Given the description of an element on the screen output the (x, y) to click on. 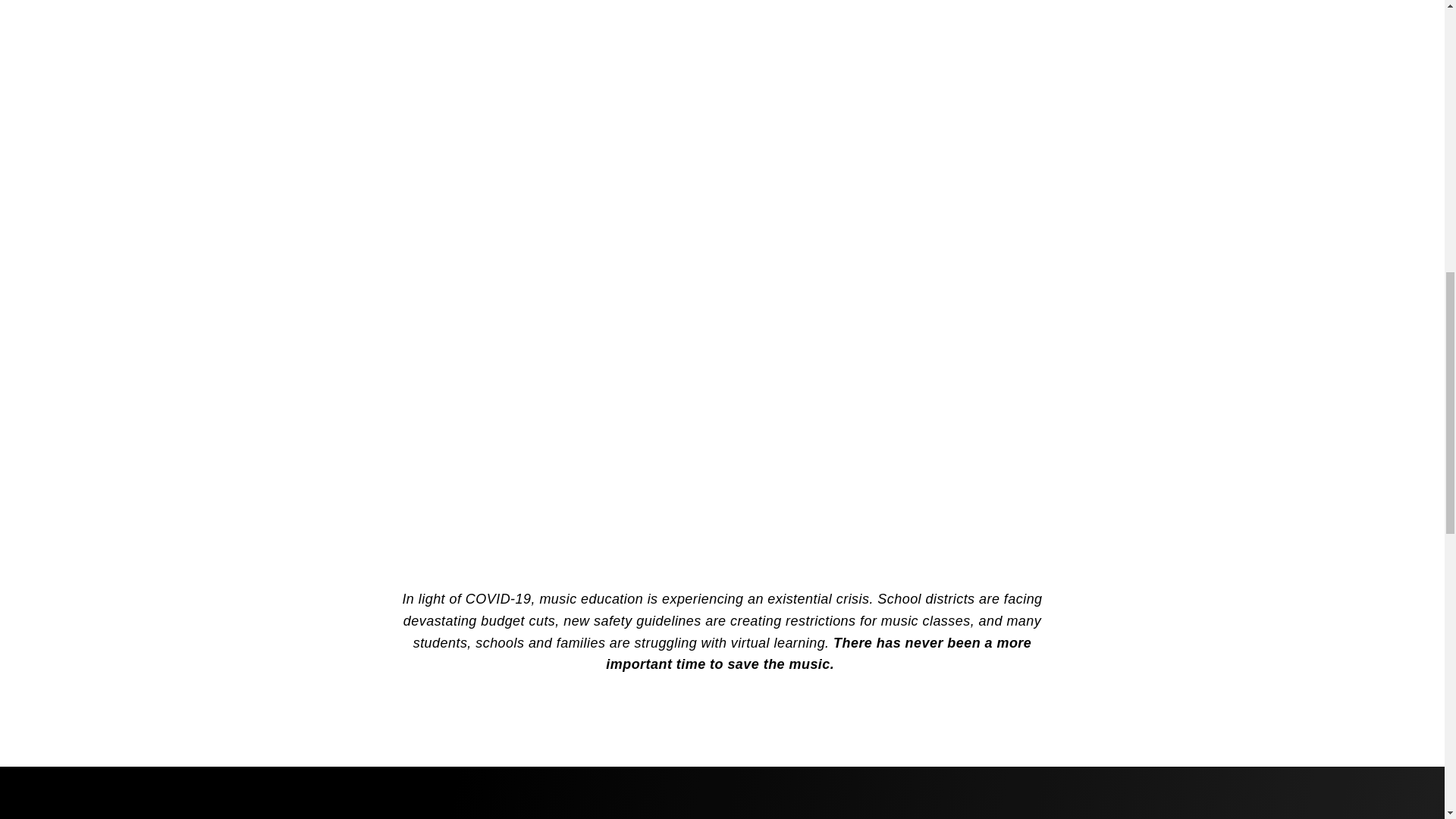
MENU (162, 46)
